Given the description of an element on the screen output the (x, y) to click on. 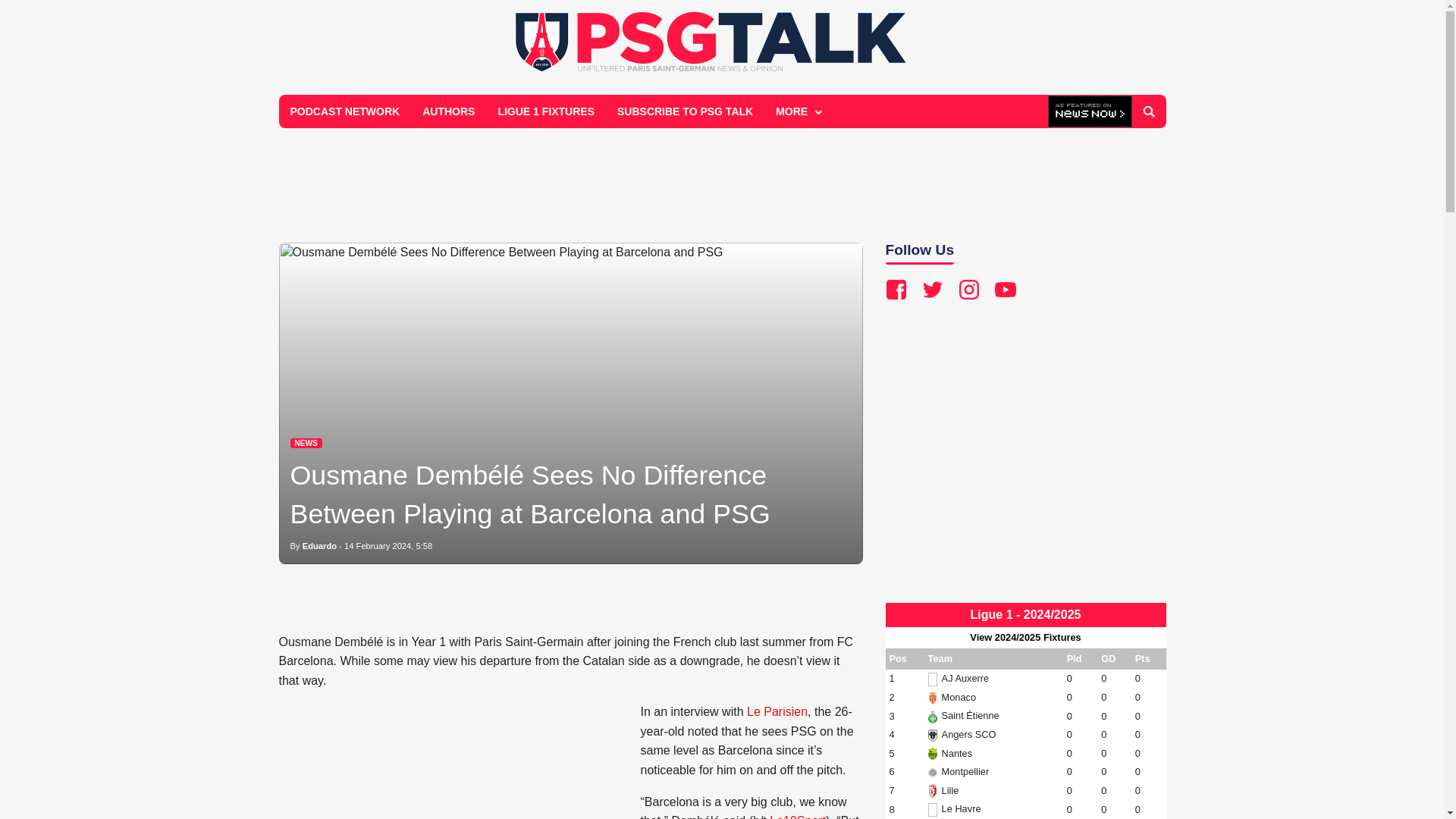
Eduardo (319, 545)
Latest News News (305, 442)
AUTHORS (448, 111)
LIGUE 1 FIXTURES (545, 111)
MORE (796, 111)
Le10Sport (797, 816)
PODCAST NETWORK (345, 111)
14 February 2024, 5:58 (387, 545)
SUBSCRIBE TO PSG TALK (684, 111)
Le Parisien (777, 711)
